Given the description of an element on the screen output the (x, y) to click on. 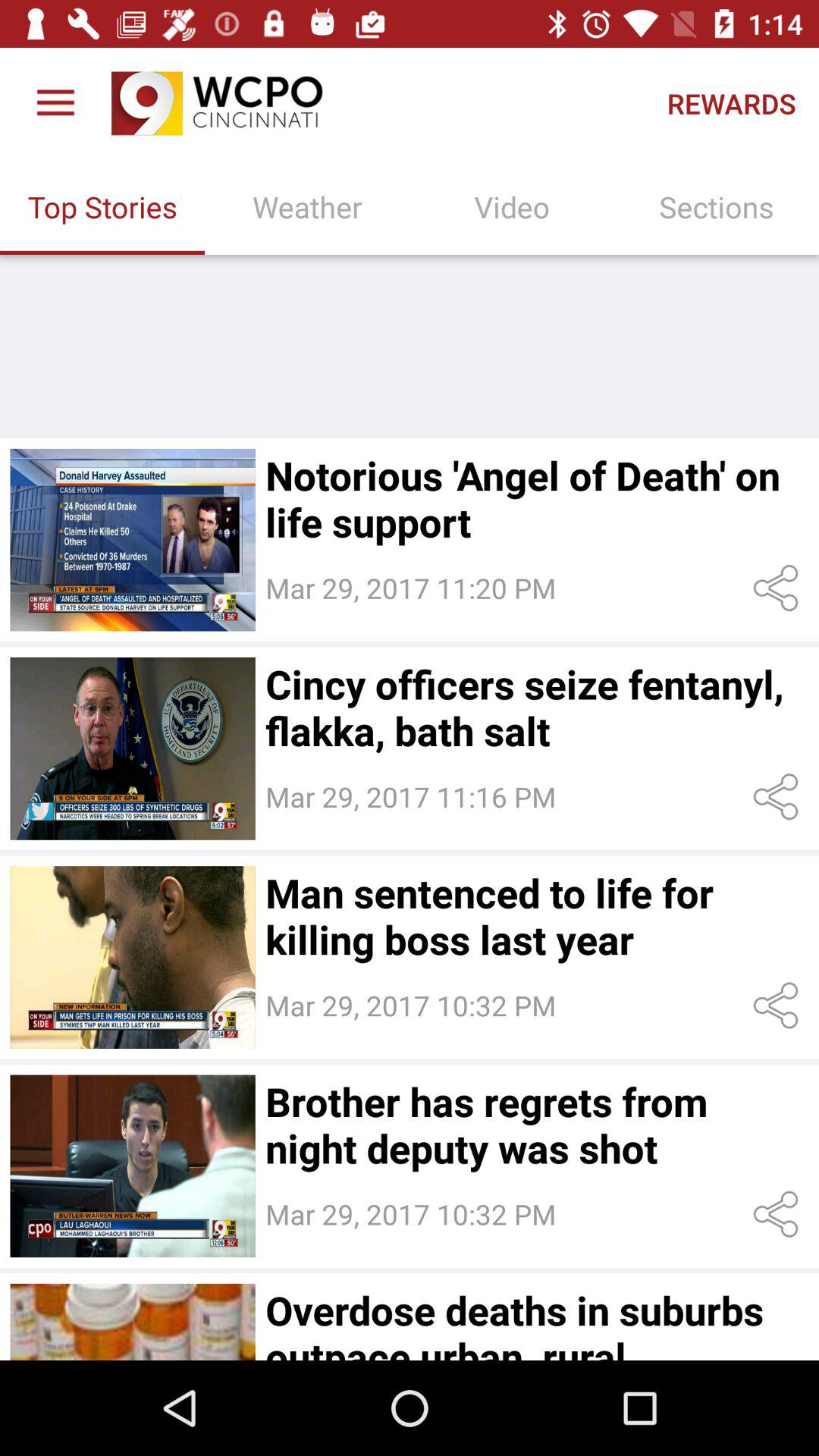
play video (132, 1165)
